Given the description of an element on the screen output the (x, y) to click on. 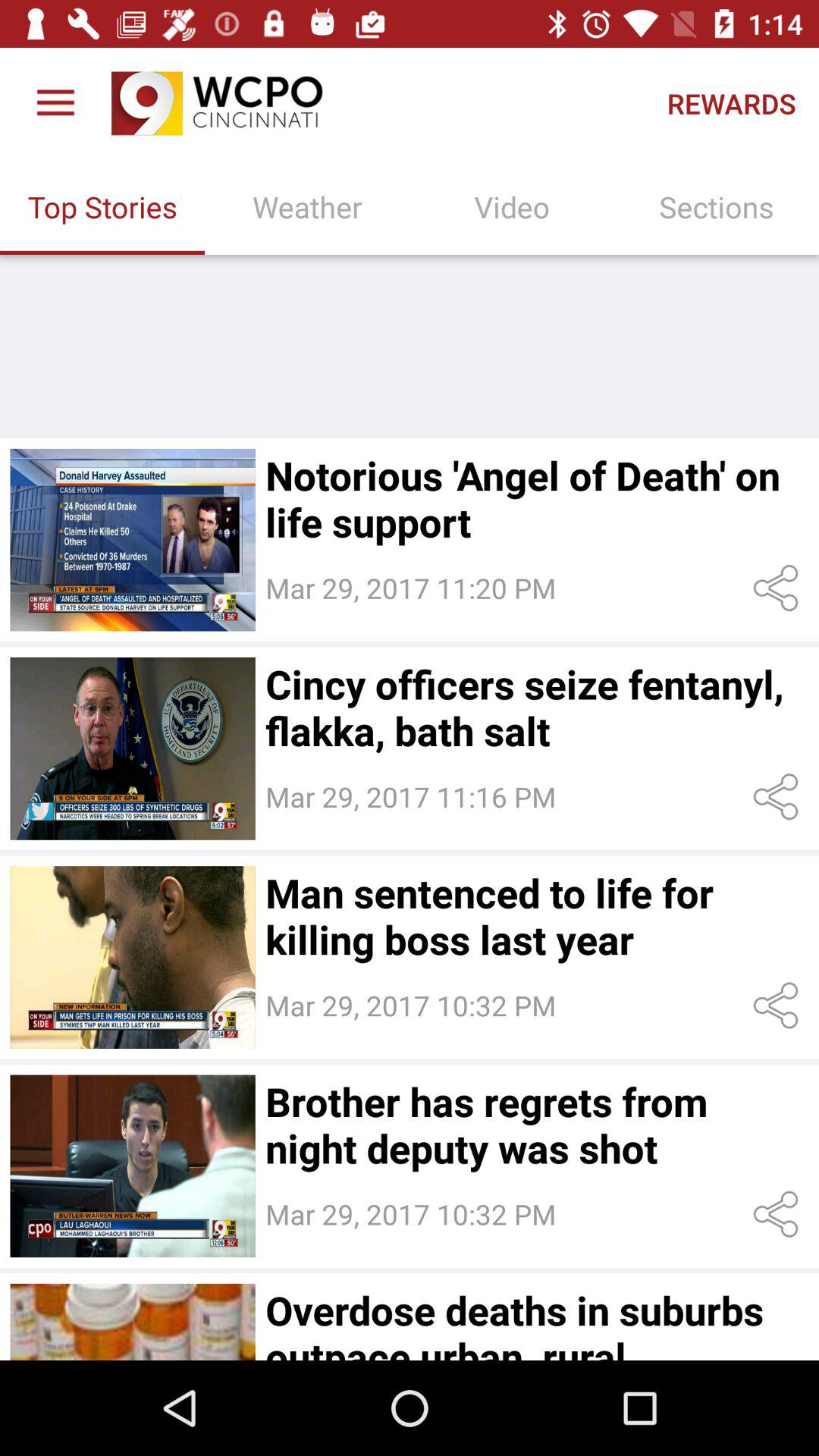
play video (132, 1165)
